Given the description of an element on the screen output the (x, y) to click on. 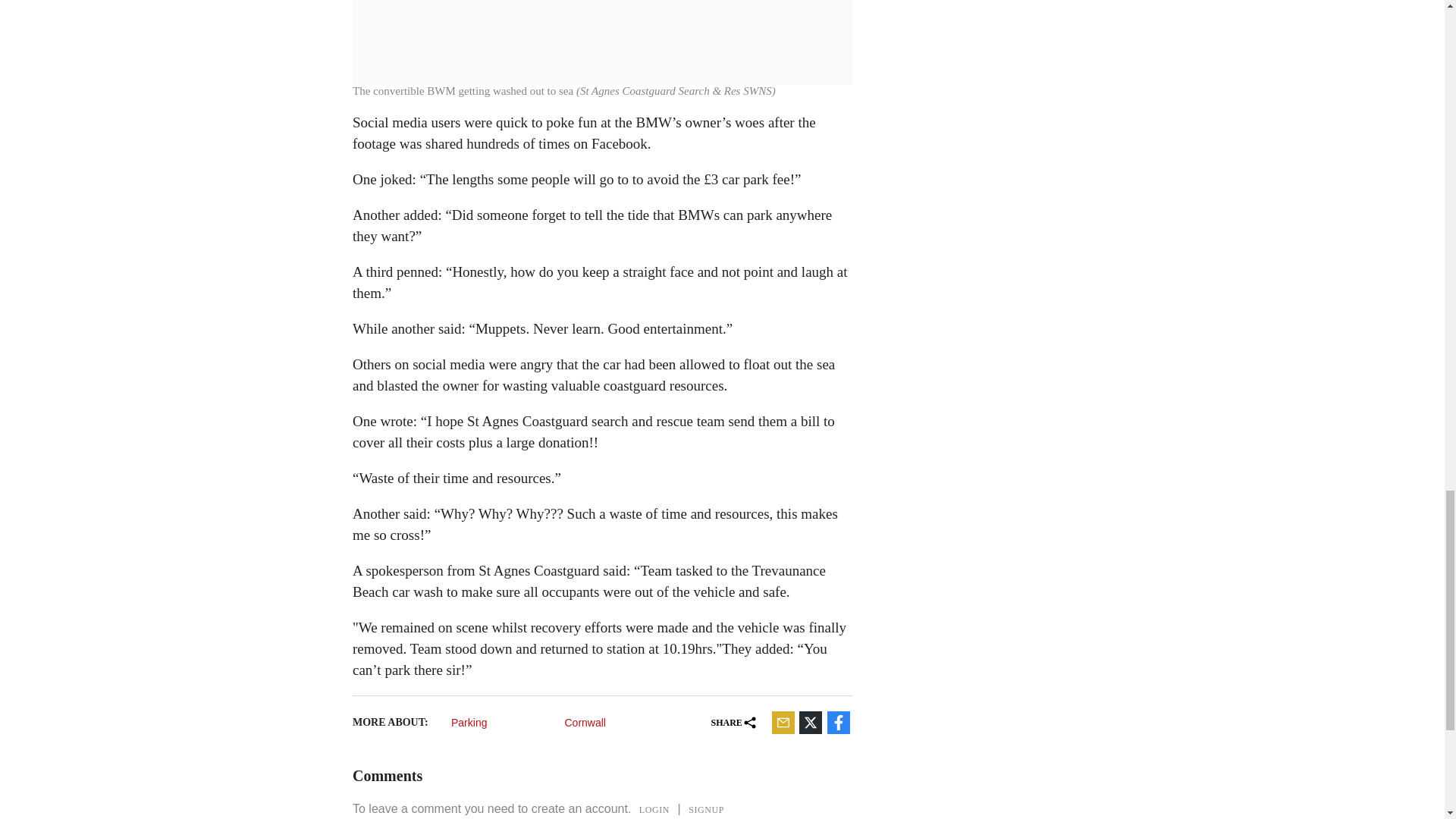
Parking (502, 722)
SIGNUP (706, 809)
Cornwall (615, 722)
LOGIN (654, 809)
